Given the description of an element on the screen output the (x, y) to click on. 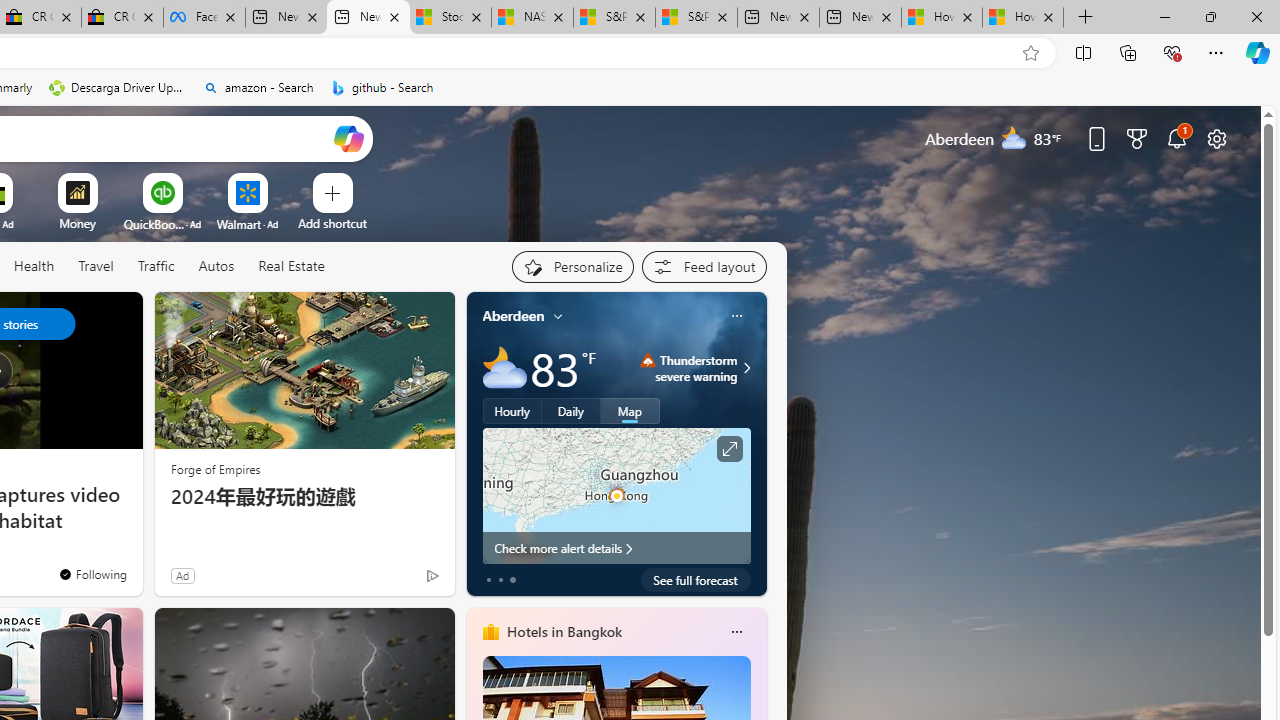
Add a site (332, 223)
Aberdeen (513, 315)
Thunderstorm - Severe Thunderstorm severe warning (689, 367)
Mostly cloudy (504, 368)
Facebook (203, 17)
You're following FOX News (92, 573)
My location (558, 315)
Money (77, 223)
Health (33, 267)
Autos (215, 265)
Real Estate (290, 267)
